Given the description of an element on the screen output the (x, y) to click on. 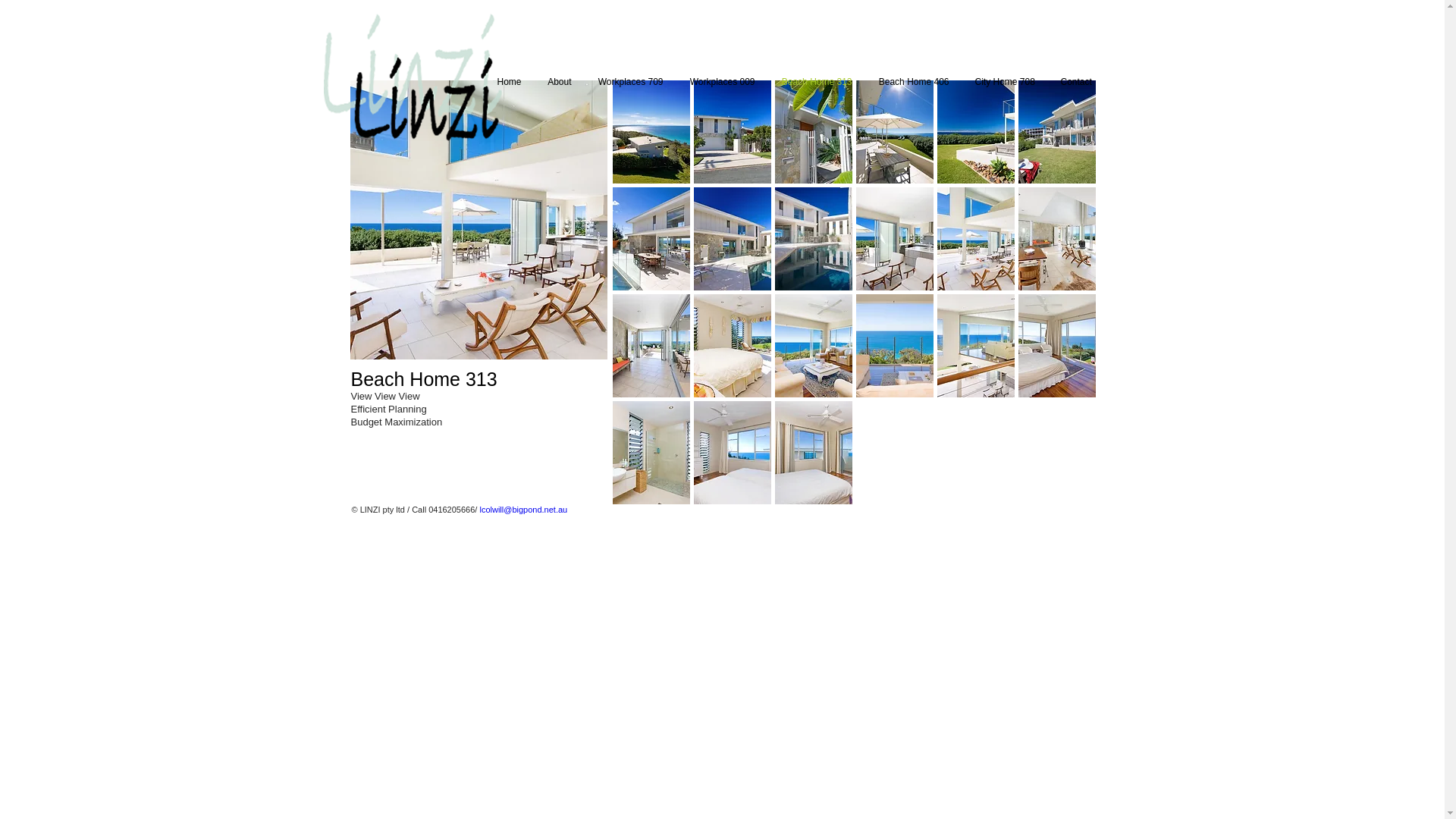
Contact Element type: text (1076, 81)
Workplaces 709 Element type: text (629, 81)
Beach Home 313 Element type: text (815, 81)
City Home 708 Element type: text (1004, 81)
lcolwill@bigpond.net.au Element type: text (523, 509)
Home Element type: text (508, 81)
Beach Home 406 Element type: text (912, 81)
About Element type: text (558, 81)
Workplaces 009 Element type: text (722, 81)
